Given the description of an element on the screen output the (x, y) to click on. 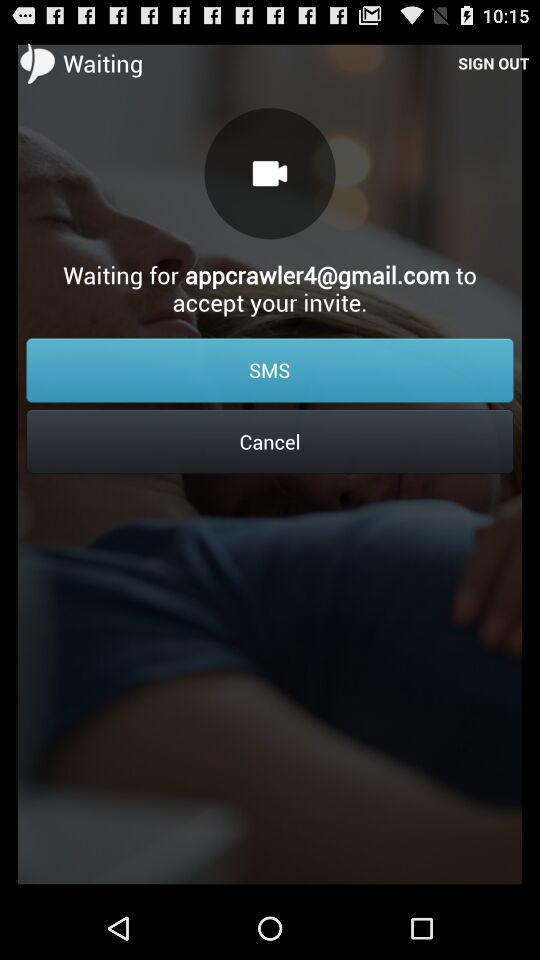
turn off the item to the right of the waiting icon (493, 62)
